Given the description of an element on the screen output the (x, y) to click on. 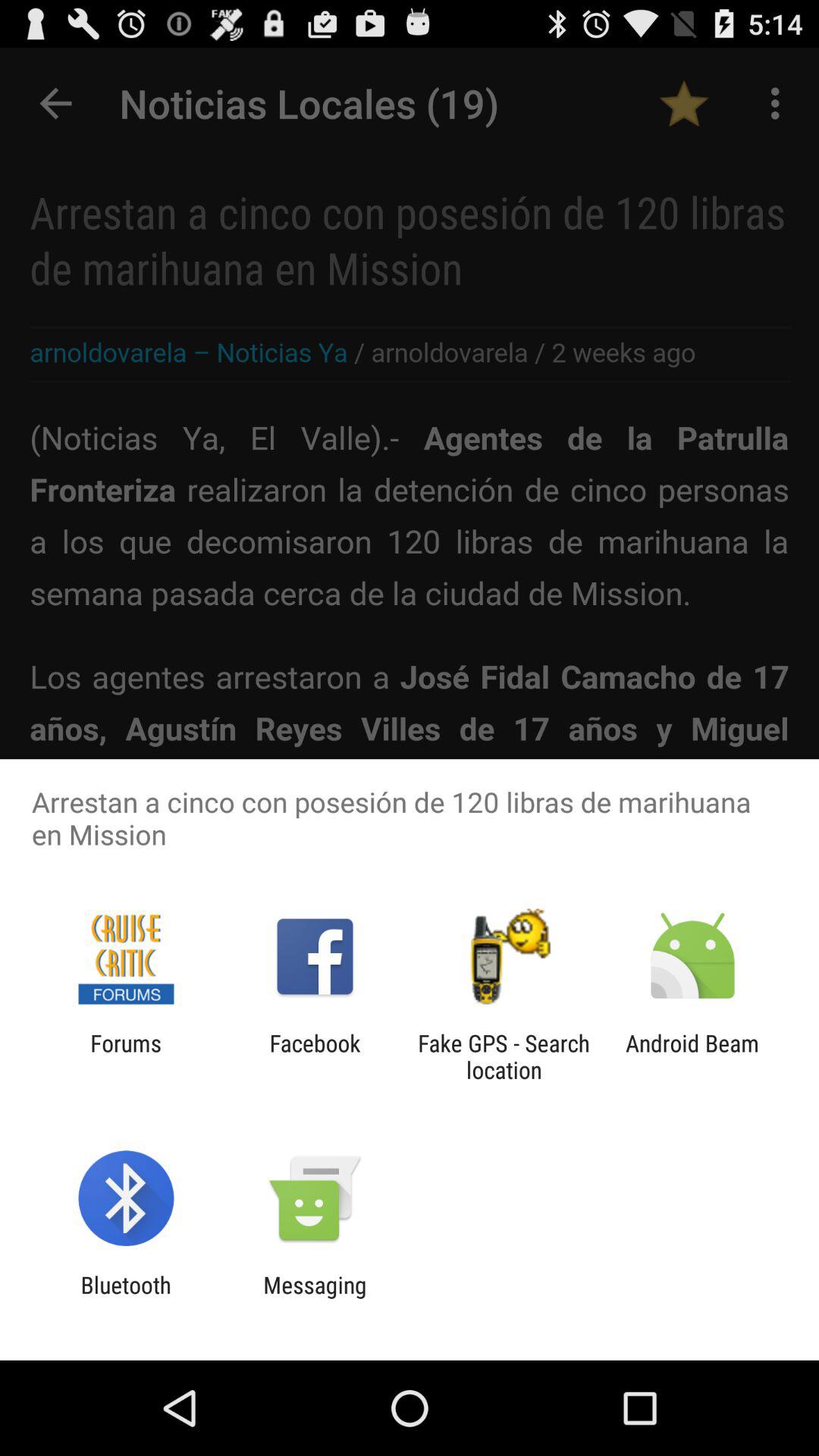
choose fake gps search app (503, 1056)
